Given the description of an element on the screen output the (x, y) to click on. 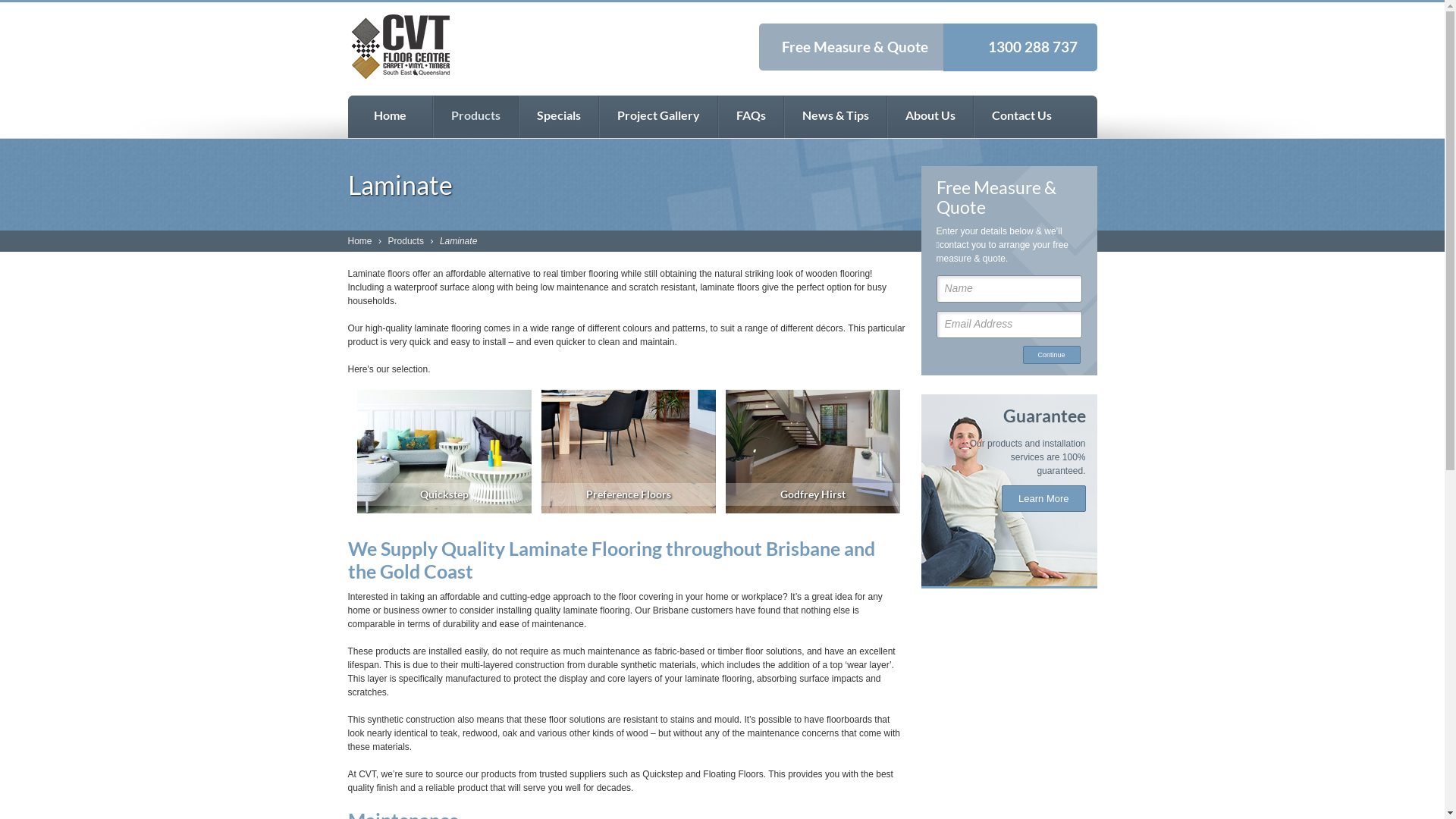
Products Element type: text (407, 240)
Laminate Element type: text (459, 240)
Quickstep Element type: text (444, 450)
Contact Us Element type: text (1021, 116)
Preference Floors Element type: text (628, 450)
About Us Element type: text (930, 116)
Continue Element type: text (1051, 354)
Home Element type: text (361, 240)
Godfrey Hirst Element type: text (812, 450)
News & Tips Element type: text (835, 116)
Project Gallery Element type: text (658, 116)
Learn More Element type: text (1043, 498)
Home Element type: text (389, 116)
Specials Element type: text (558, 116)
Products Element type: text (474, 116)
FAQs Element type: text (750, 116)
